Given the description of an element on the screen output the (x, y) to click on. 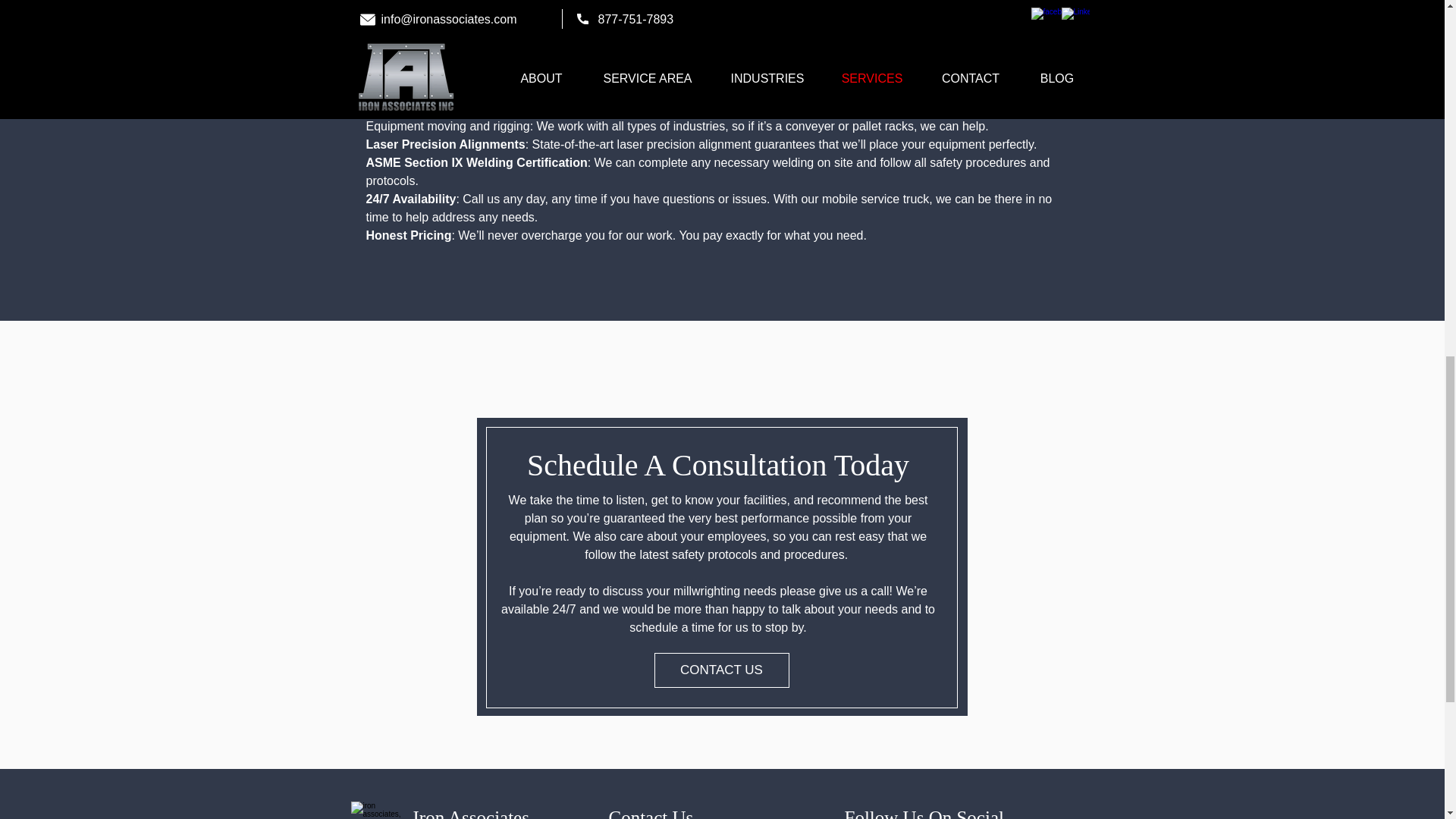
CONTACT US (721, 669)
